Given the description of an element on the screen output the (x, y) to click on. 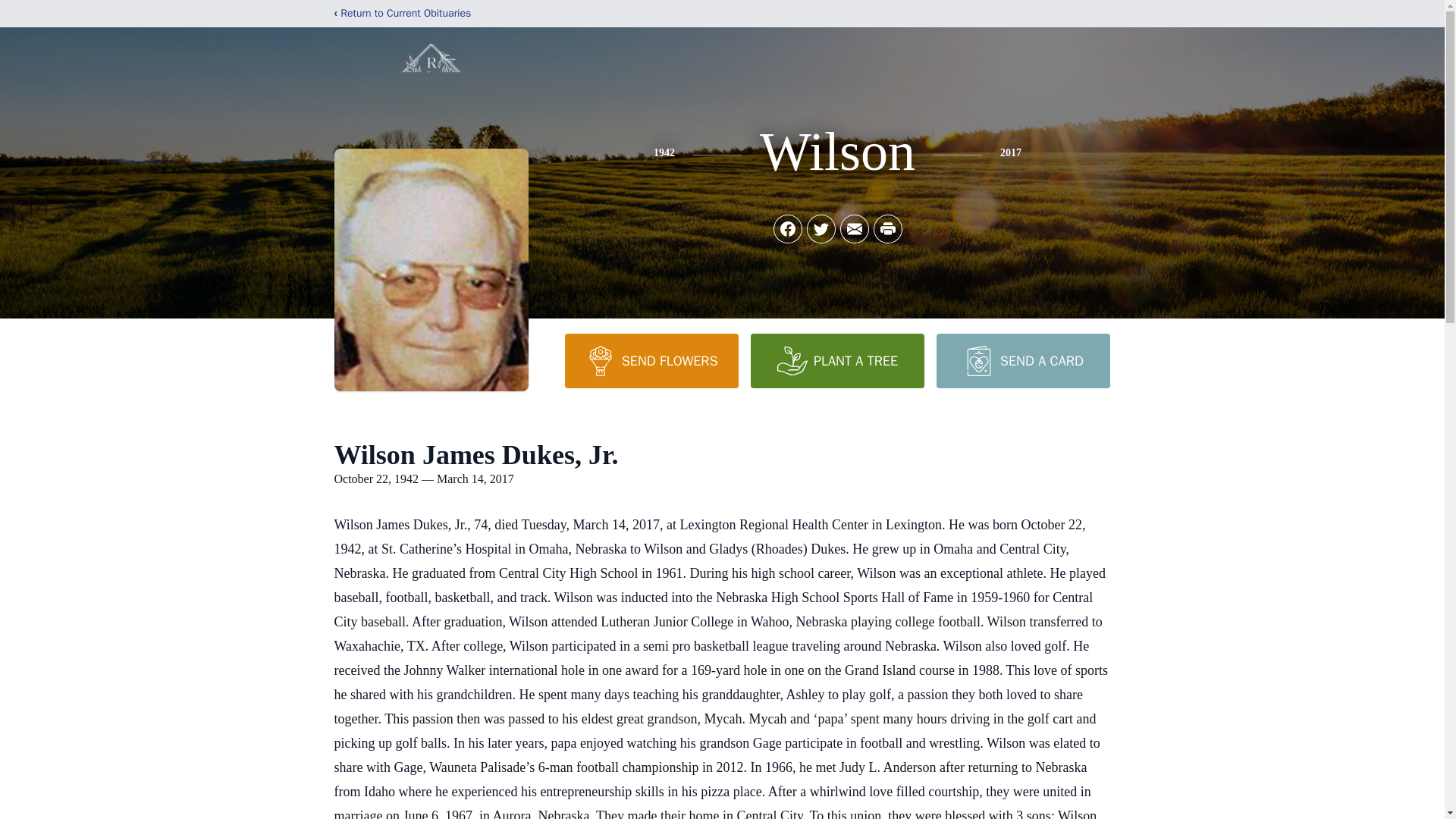
PLANT A TREE (837, 360)
SEND FLOWERS (651, 360)
SEND A CARD (1022, 360)
